Given the description of an element on the screen output the (x, y) to click on. 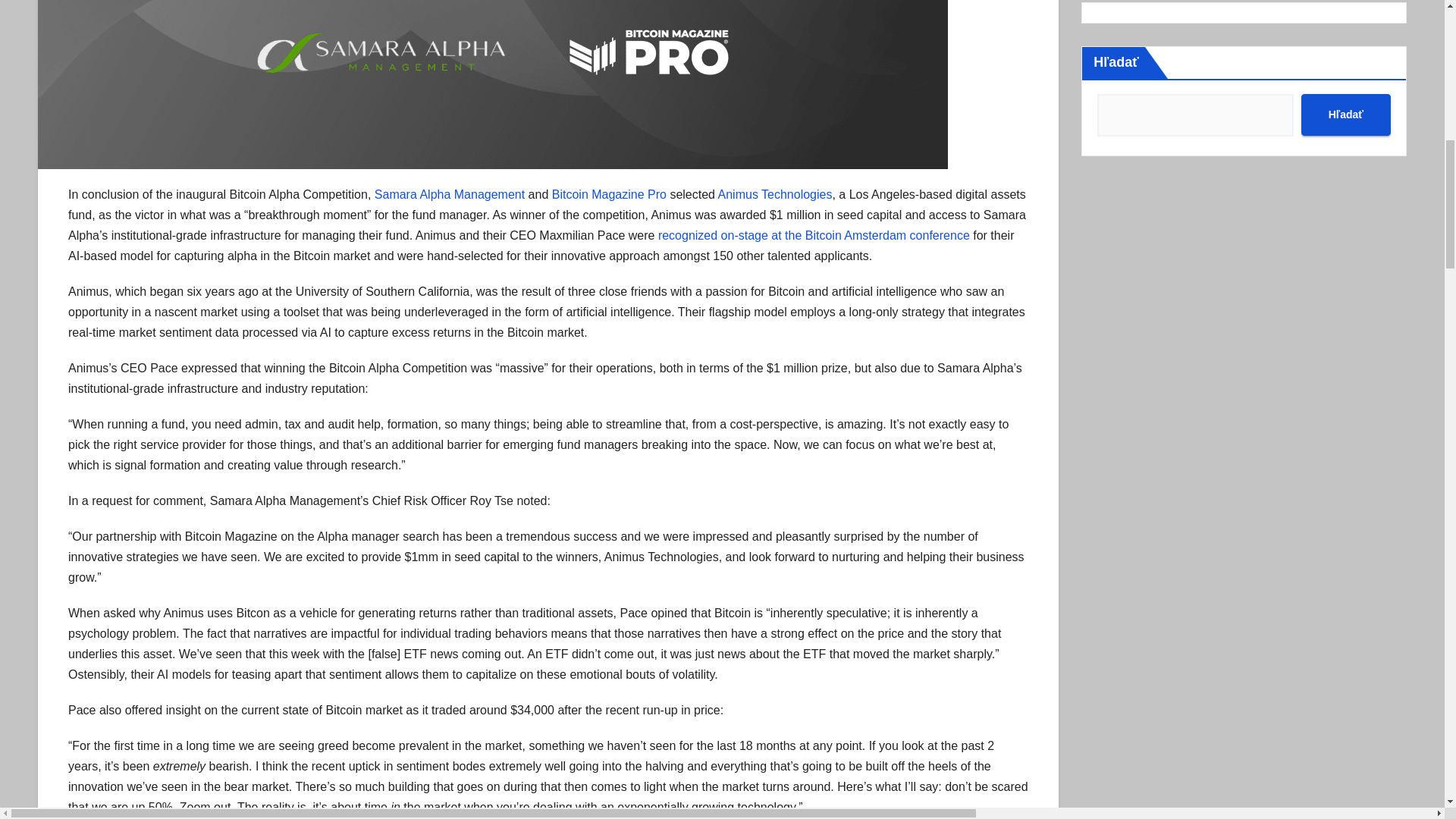
Animus Technologies (774, 194)
Bitcoin Magazine Pro (608, 194)
Samara Alpha Management (449, 194)
recognized on-stage at the Bitcoin Amsterdam conference (813, 235)
